Given the description of an element on the screen output the (x, y) to click on. 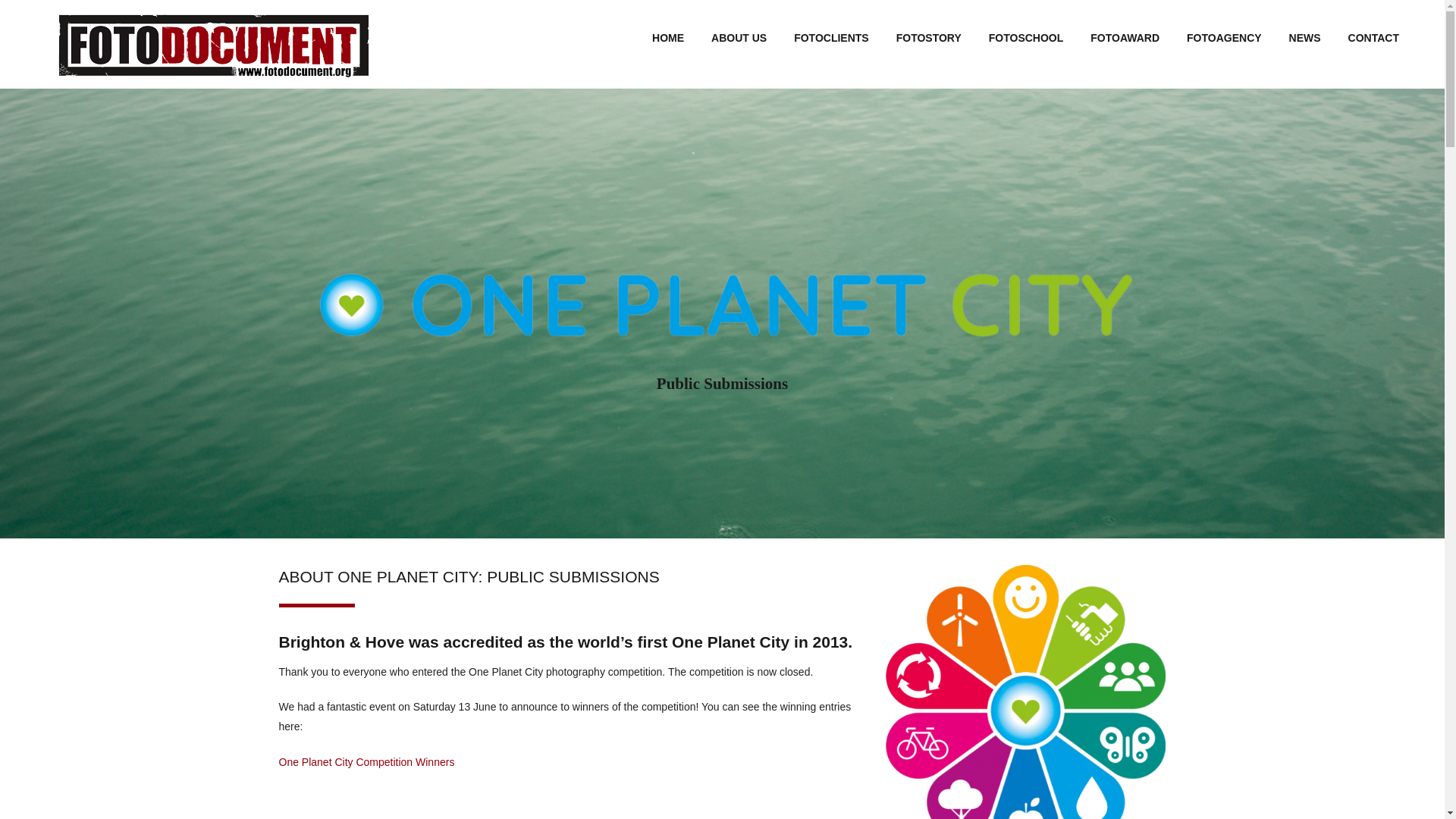
FOTOAWARD (1125, 38)
FOTOSCHOOL (1026, 38)
FOTOSTORY (928, 38)
FOTOCLIENTS (831, 38)
FOTOAGENCY (1224, 38)
ABOUT US (738, 38)
One Planet City Competition Winners (366, 761)
